Given the description of an element on the screen output the (x, y) to click on. 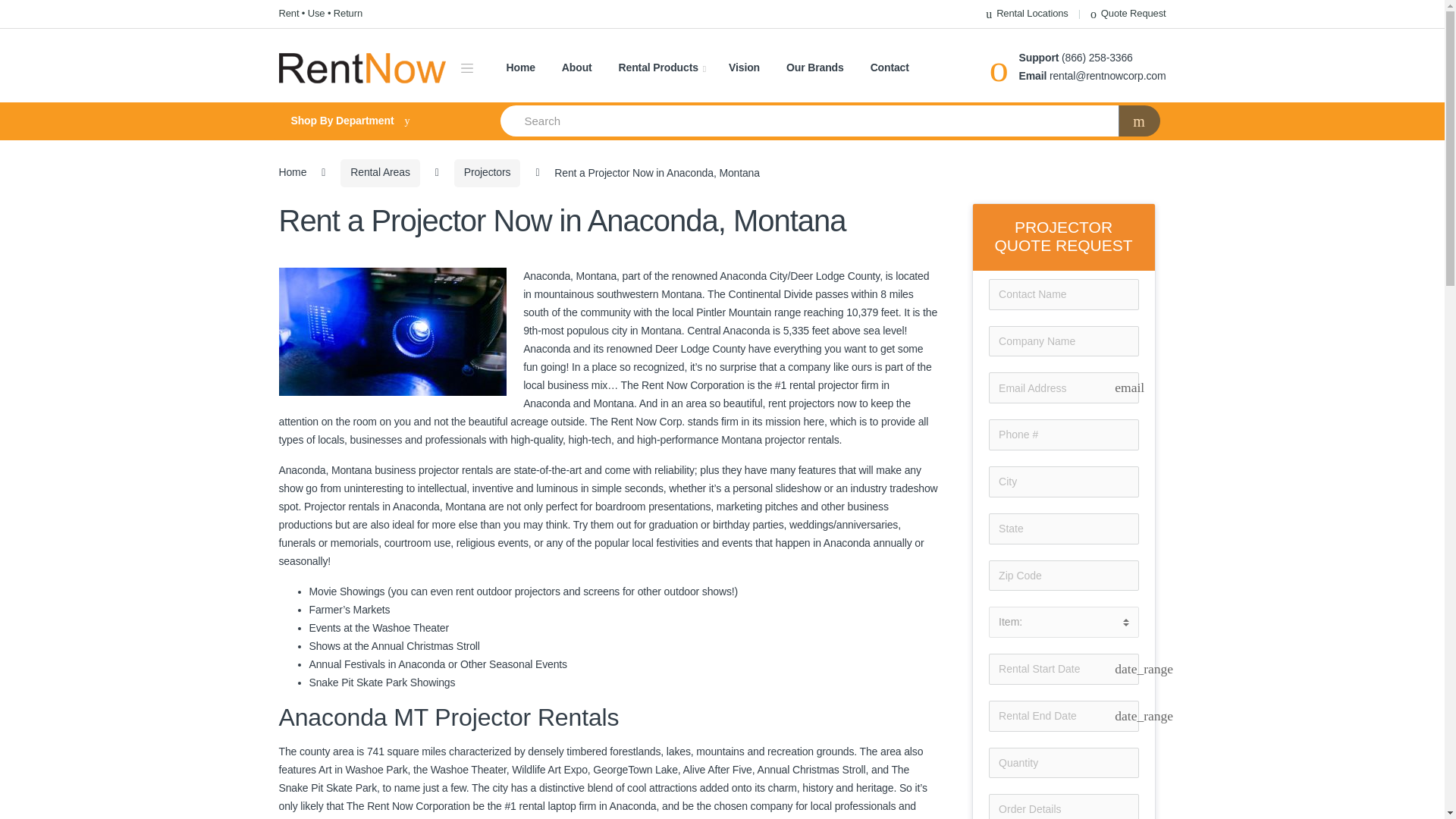
Quote Request (1128, 13)
Rental Products (662, 67)
Skip to content (34, 9)
Skip to navigation (40, 9)
Contact (889, 67)
Rental Locations (1026, 13)
Our Brands (815, 67)
Rental Locations (1026, 13)
Vision (744, 67)
Quote Request (1128, 13)
